Given the description of an element on the screen output the (x, y) to click on. 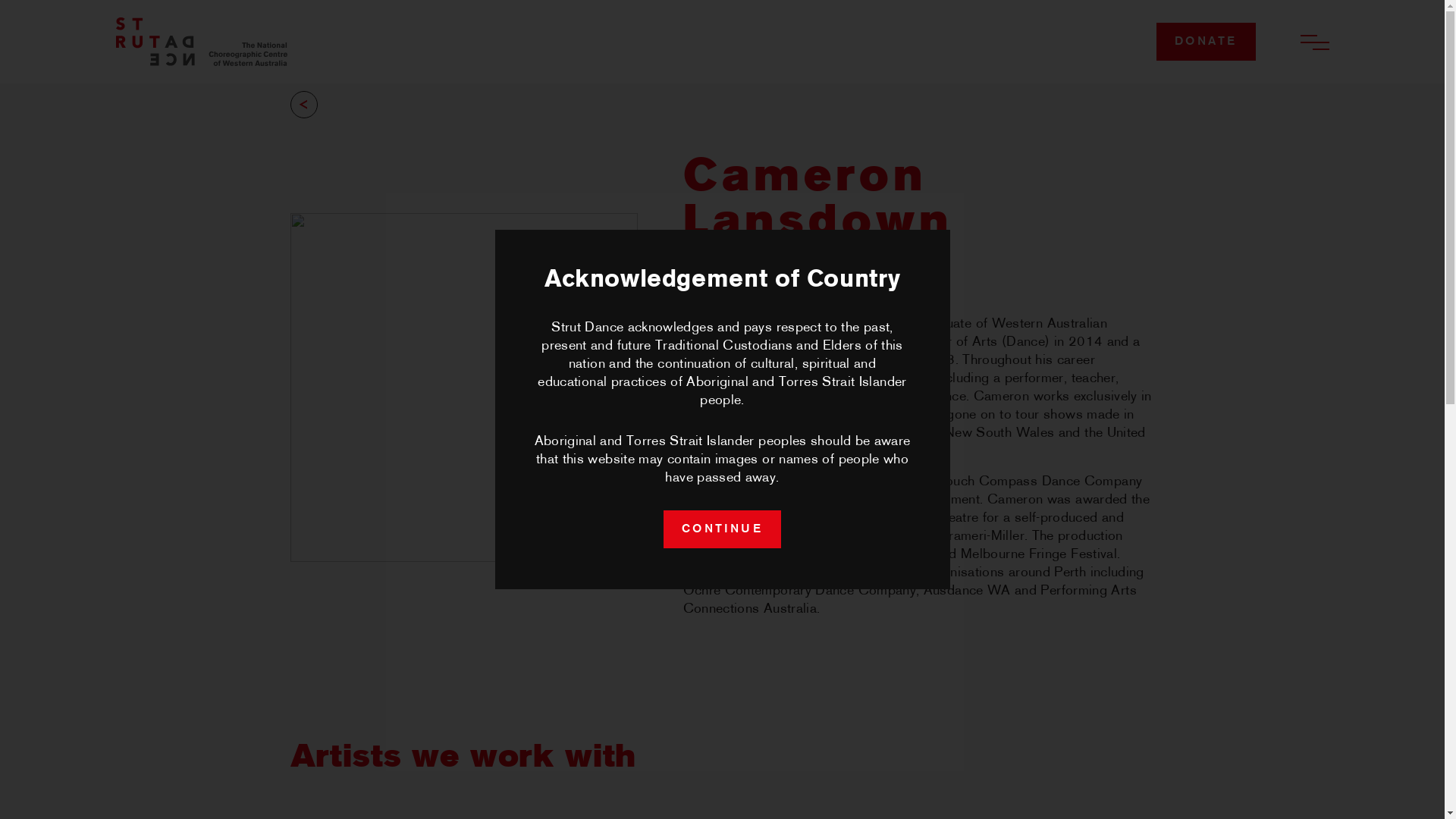
DONATE Element type: text (1205, 41)
CONTINUE Element type: text (722, 529)
